Given the description of an element on the screen output the (x, y) to click on. 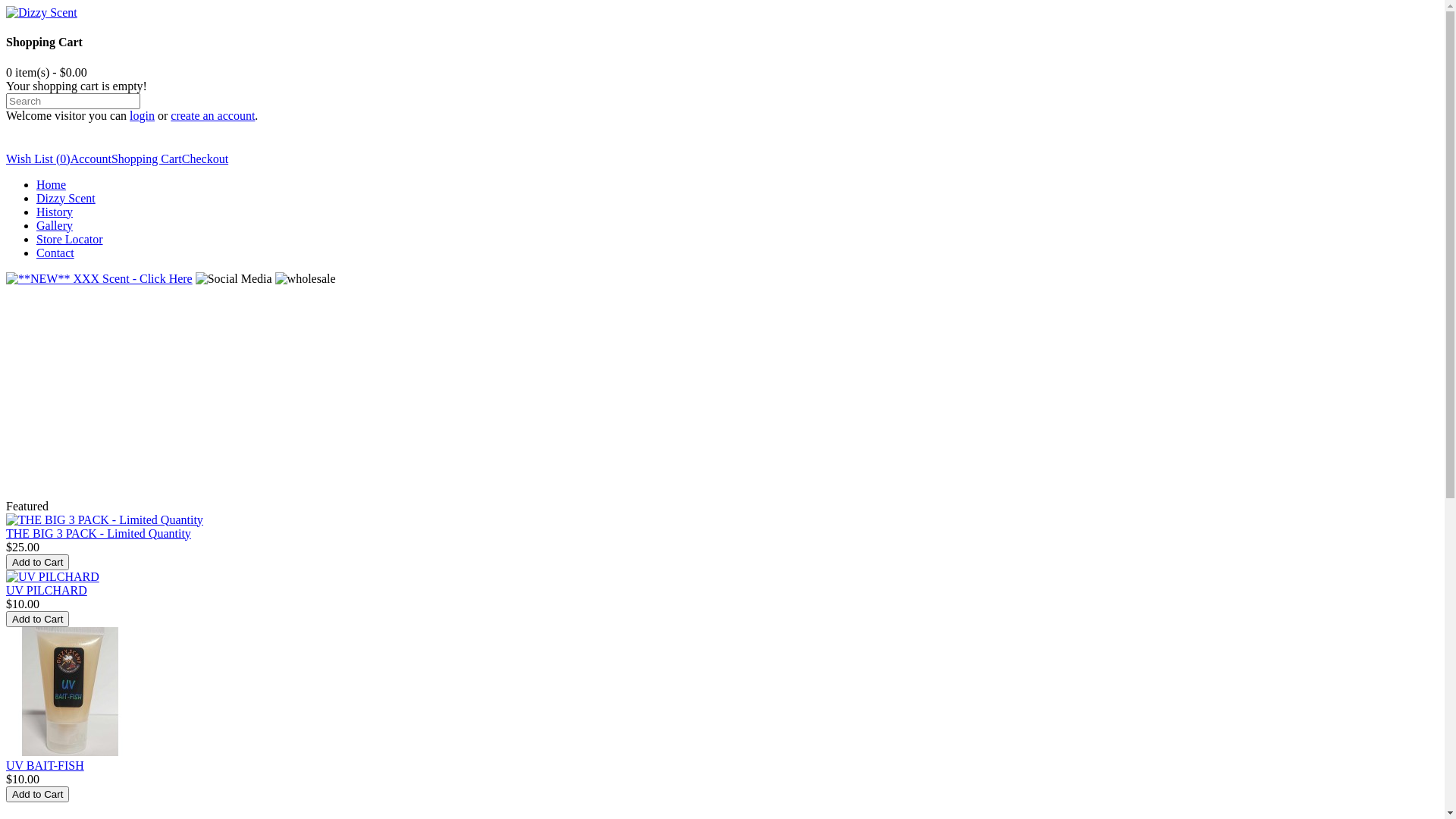
create an account Element type: text (212, 115)
Add to Cart Element type: text (37, 619)
Dizzy Scent Element type: hover (41, 12)
THE BIG 3 PACK - Limited Quantity Element type: text (98, 533)
Store Locator Element type: text (69, 238)
Add to Cart Element type: text (37, 562)
Wish List (0) Element type: text (38, 158)
0 item(s) - $0.00 Element type: text (46, 71)
History Element type: text (54, 211)
Checkout Element type: text (205, 158)
login Element type: text (141, 115)
Gallery Element type: text (54, 225)
Add to Cart Element type: text (37, 794)
Account Element type: text (90, 158)
UV PILCHARD Element type: text (46, 589)
UV BAIT-FISH Element type: text (45, 765)
Home Element type: text (50, 184)
Shopping Cart Element type: text (146, 158)
Dizzy Scent Element type: text (65, 197)
Contact Element type: text (55, 252)
